Given the description of an element on the screen output the (x, y) to click on. 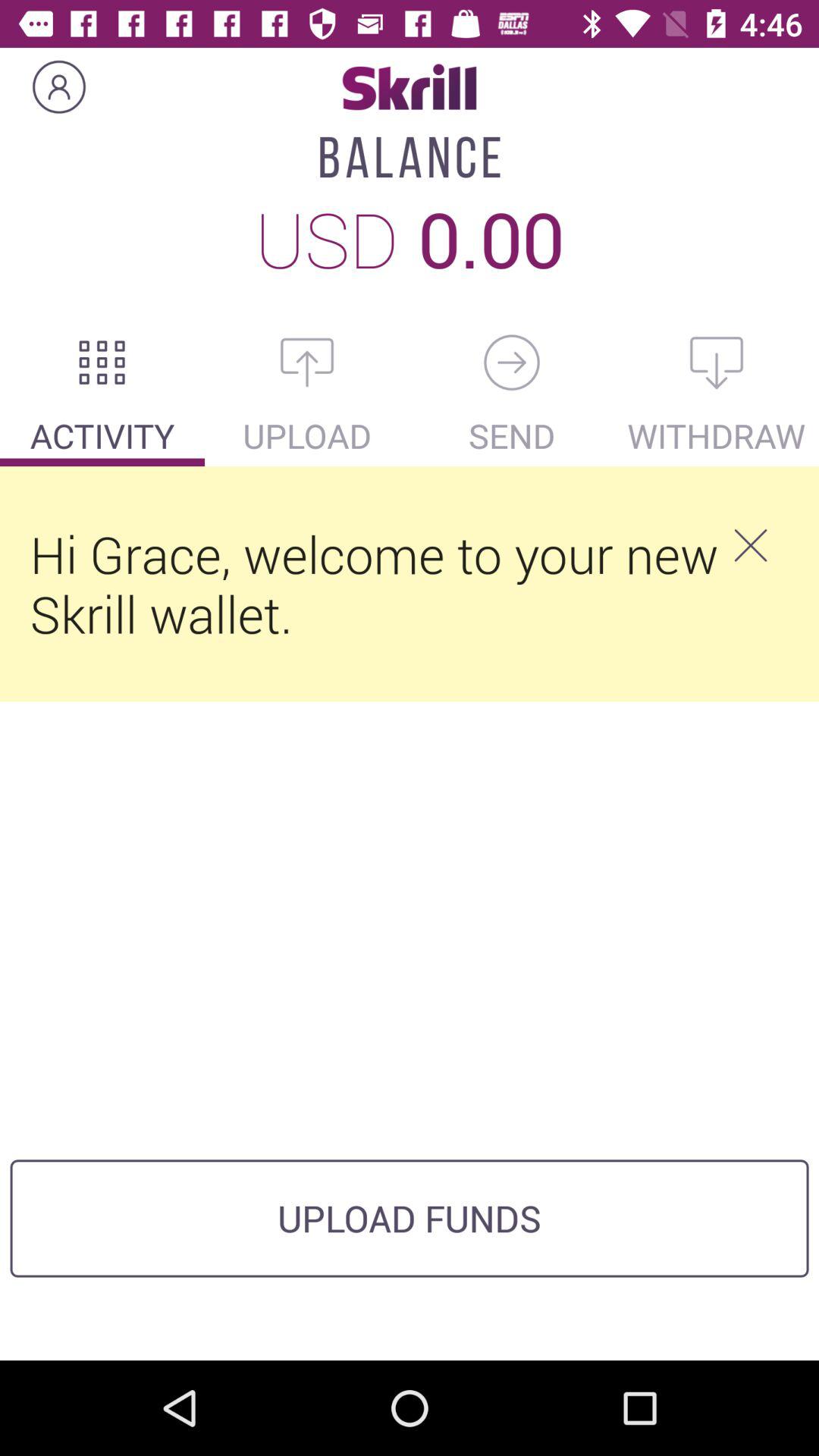
upload funds option (306, 362)
